Given the description of an element on the screen output the (x, y) to click on. 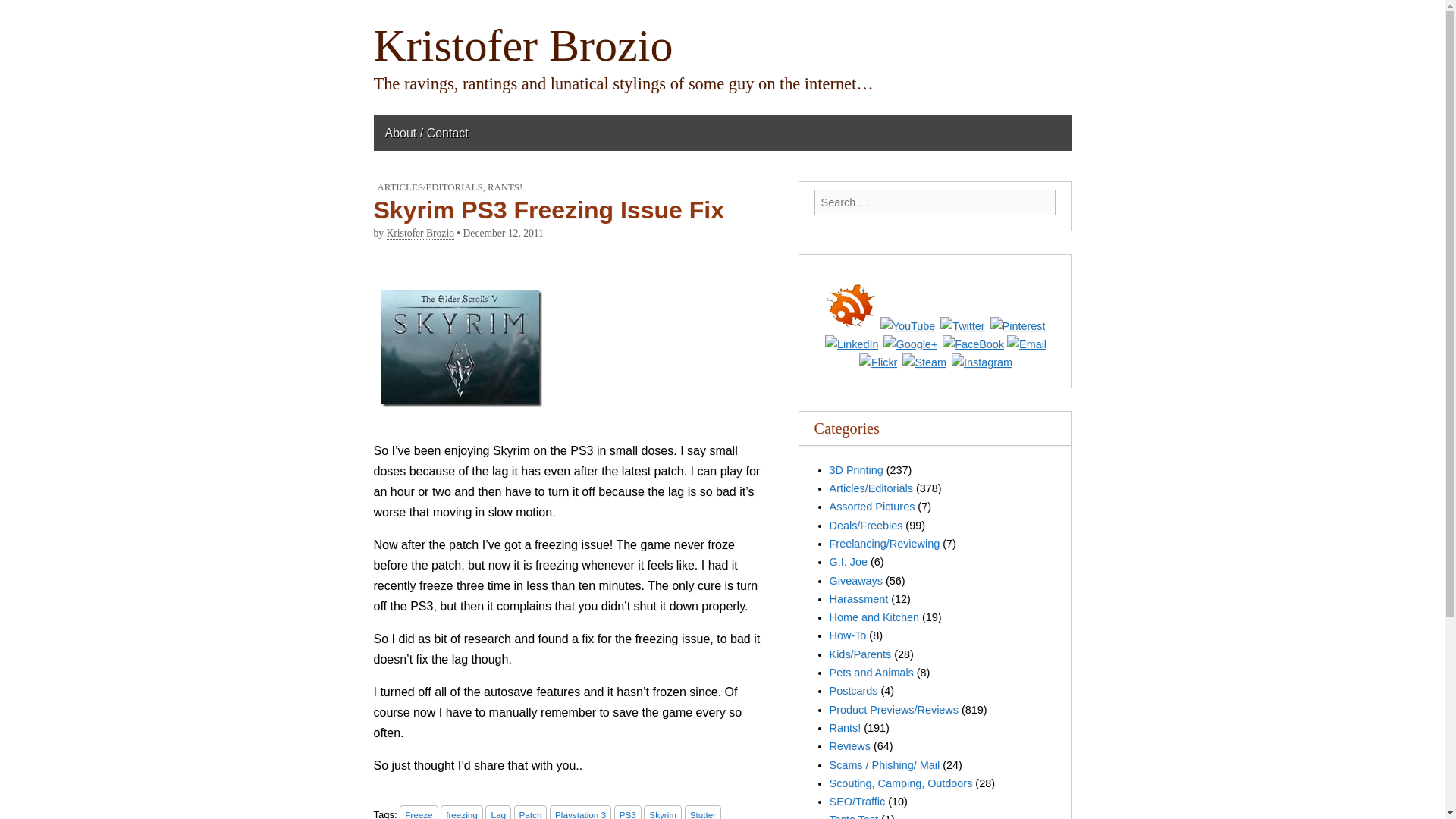
G.I. Joe (848, 562)
freezing (462, 812)
Stutter (702, 812)
Follow me on Twitter (962, 325)
My LinkedIn Profile (851, 343)
Skyrim (662, 812)
PS3 (628, 812)
Playstation 3 (580, 812)
Kristofer Brozio (522, 45)
Me on Instagram (981, 361)
3D Printing (856, 469)
My FaceBook Page (973, 343)
My Photos on Flickr (877, 361)
Posts by Kristofer Brozio (420, 233)
